Given the description of an element on the screen output the (x, y) to click on. 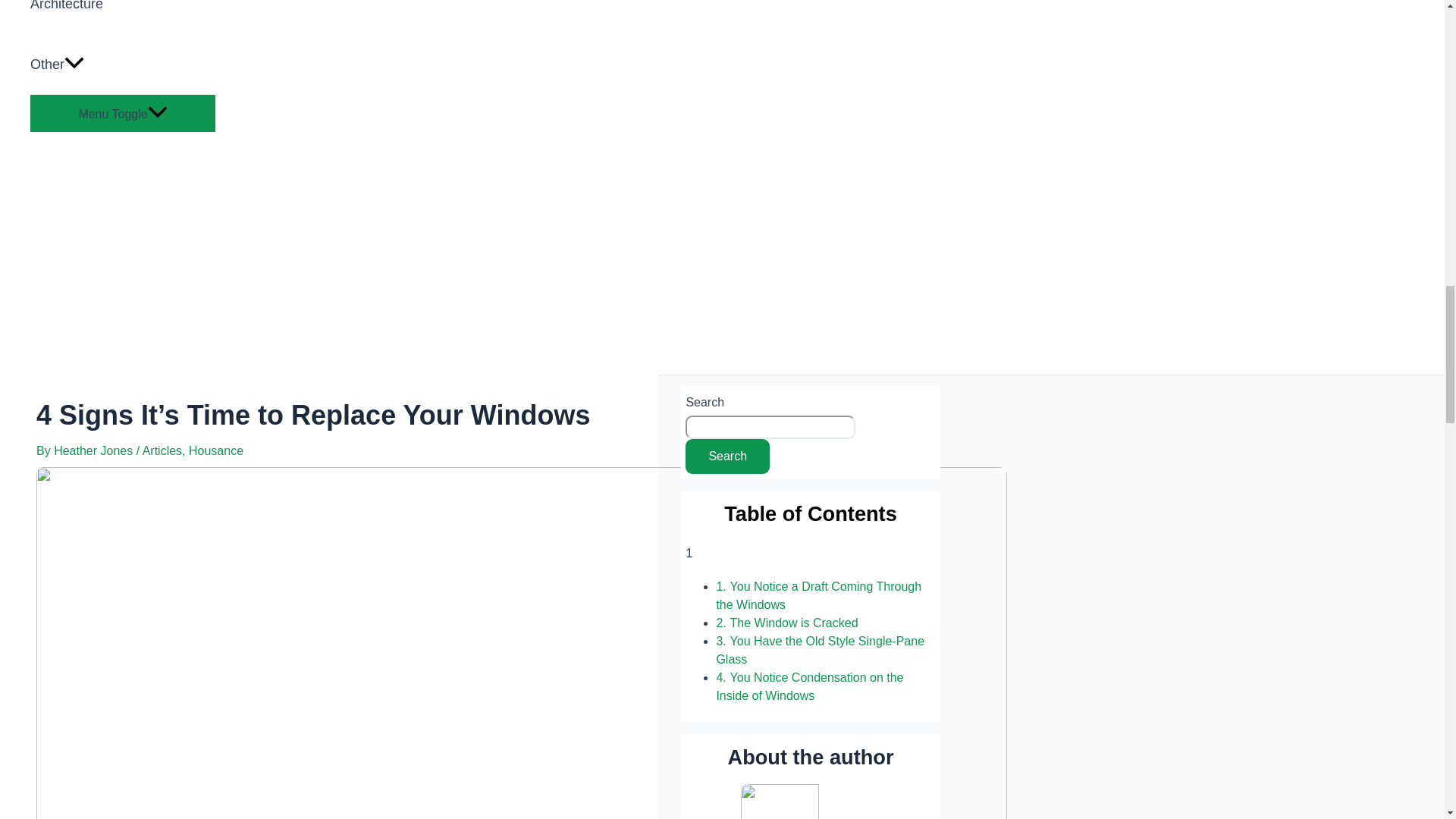
You Notice a Draft Coming Through the Windows (818, 594)
Other (122, 64)
View all posts by Heather Jones (94, 450)
You Have the Old Style Single-Pane Glass (820, 649)
You Notice Condensation on the Inside of Windows (809, 685)
Menu Toggle (122, 113)
The Window is Cracked (794, 622)
Architecture (122, 17)
